Given the description of an element on the screen output the (x, y) to click on. 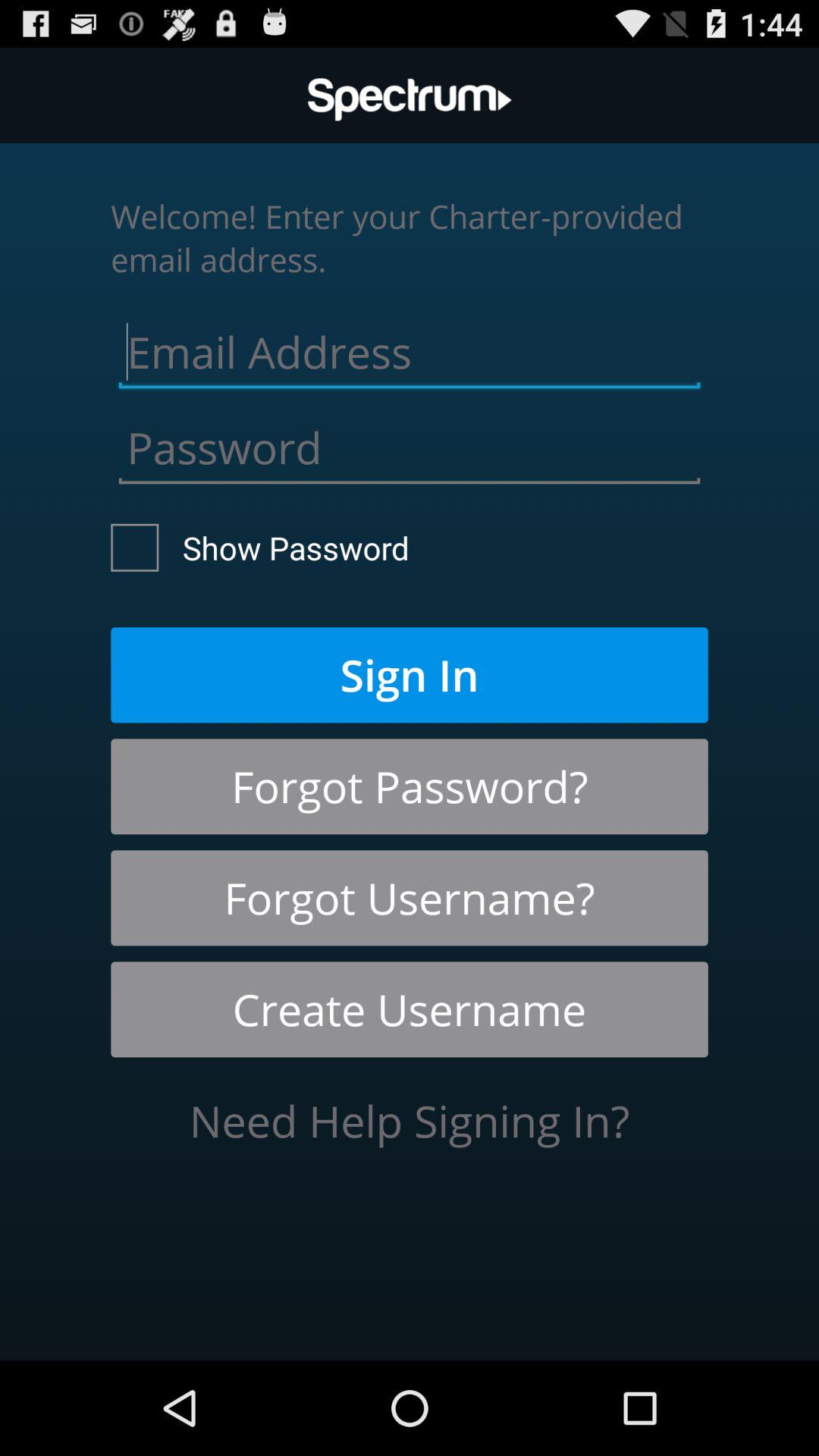
swipe to the show password icon (259, 547)
